Given the description of an element on the screen output the (x, y) to click on. 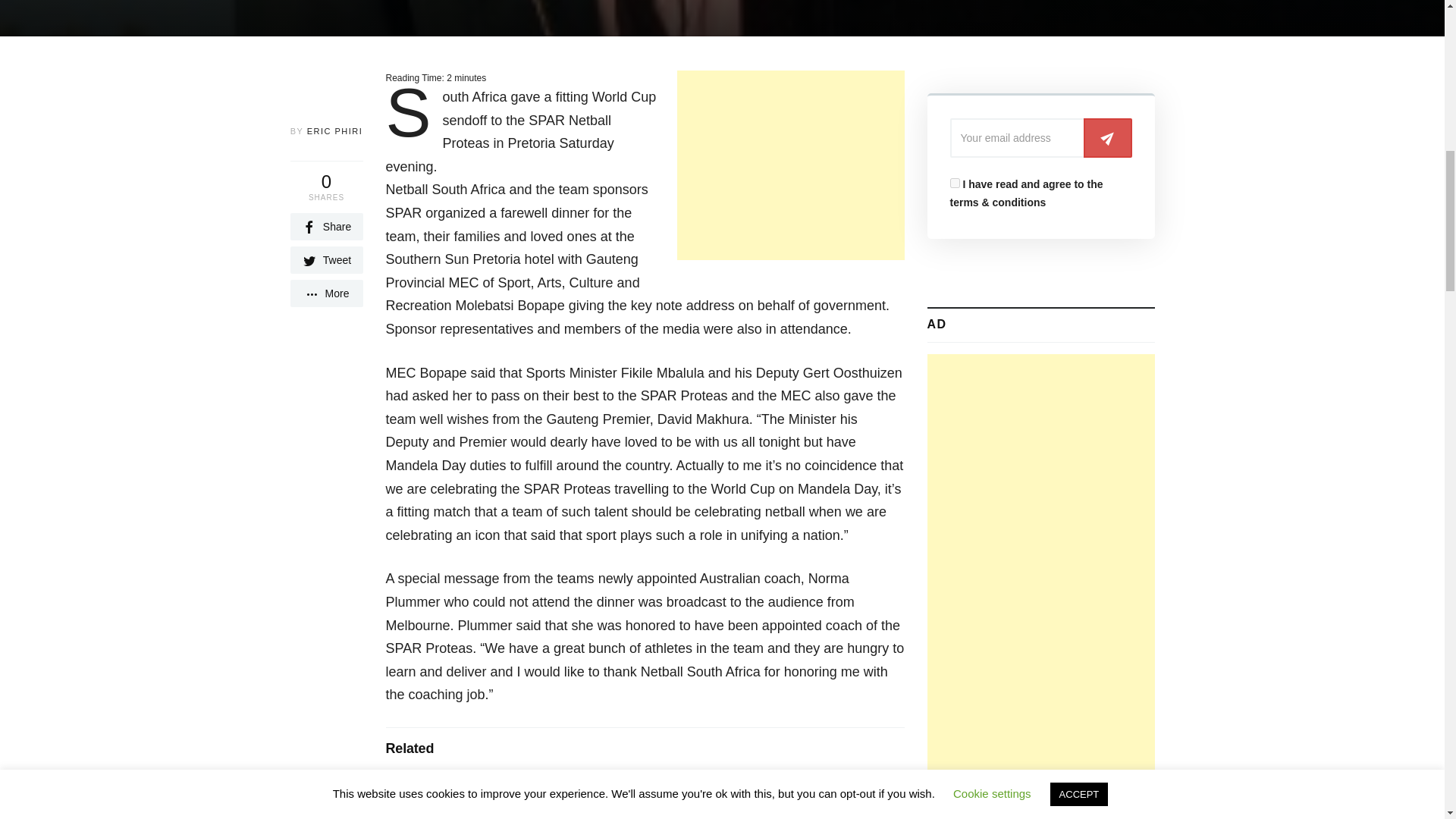
Share on Twitter (325, 259)
More (325, 293)
ERIC PHIRI (334, 130)
Plan to Perfection: Turning 'I Do' into a Day to Remember (558, 789)
Plan to Perfection: Turning 'I Do' into a Day to Remember (558, 789)
1 (954, 183)
Share on Facebook (325, 226)
Share (325, 226)
Tweet (325, 259)
